Given the description of an element on the screen output the (x, y) to click on. 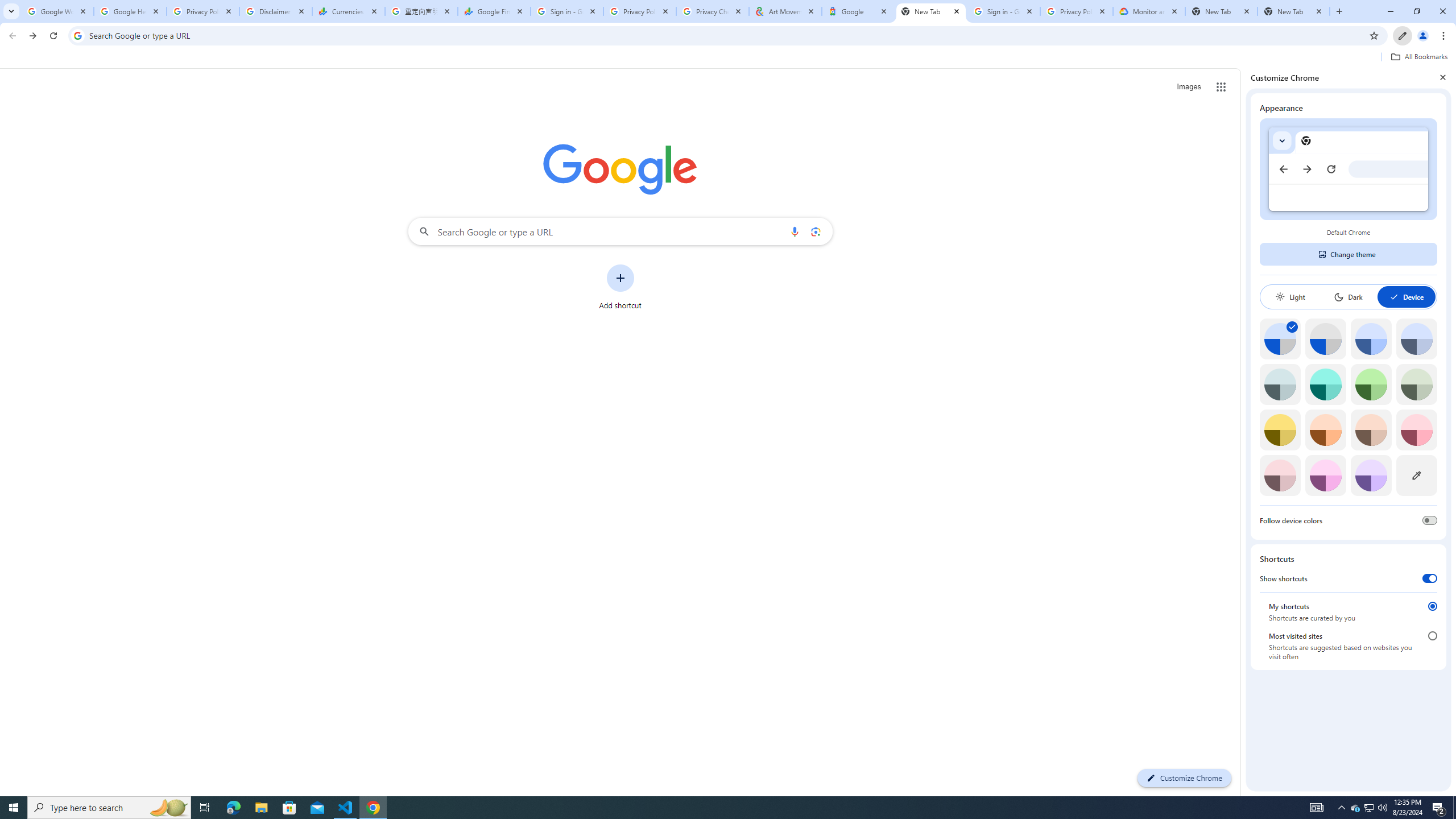
Fuchsia (1325, 475)
Rose (1416, 429)
Bookmarks (728, 58)
Side Panel Resize Handle (1242, 431)
Search by image (816, 230)
Device (1406, 296)
Sign in - Google Accounts (1003, 11)
Search Google or type a URL (619, 230)
My shortcuts (1432, 605)
Green (1371, 383)
